Given the description of an element on the screen output the (x, y) to click on. 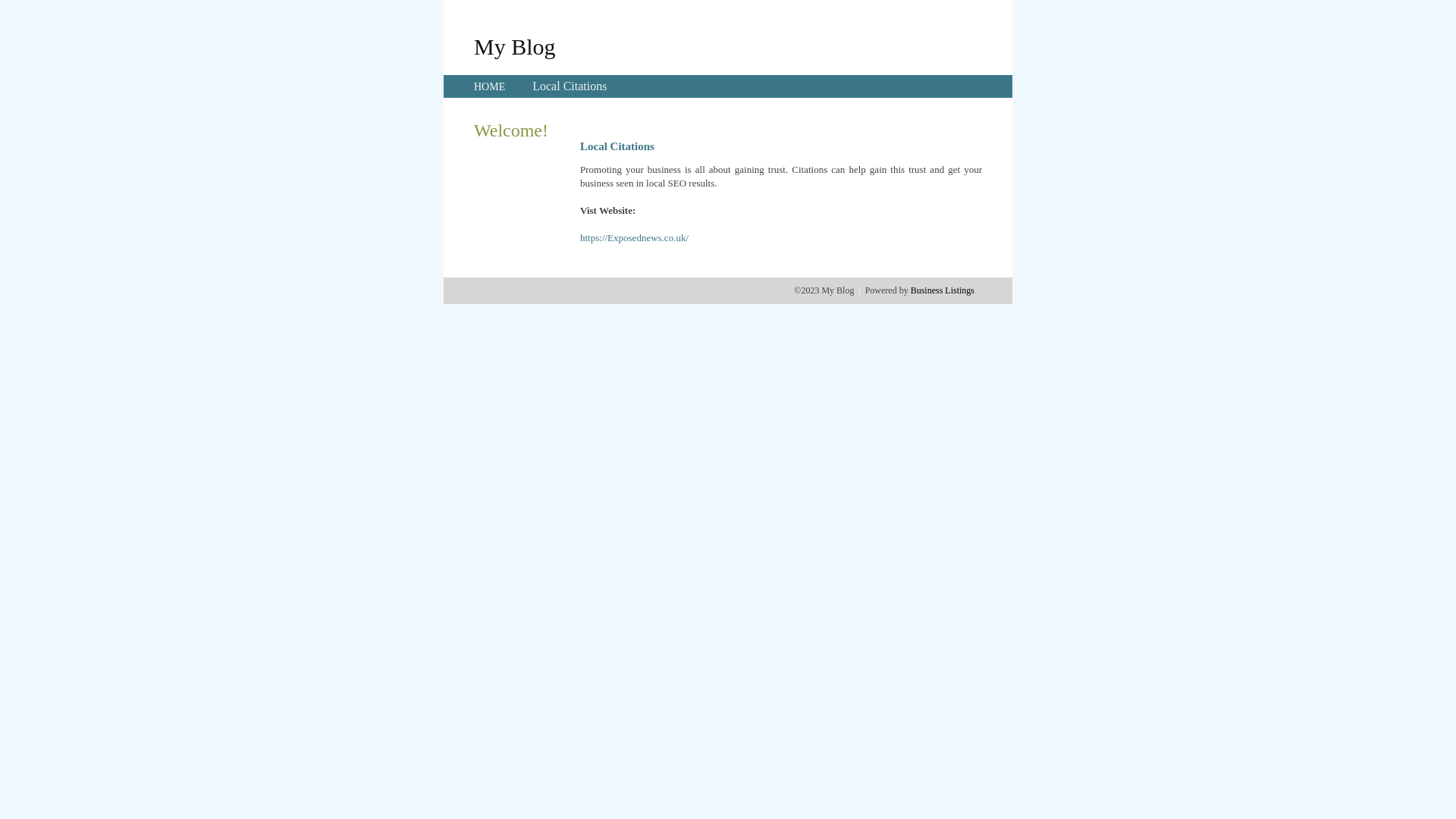
HOME Element type: text (489, 86)
My Blog Element type: text (514, 46)
Business Listings Element type: text (942, 290)
Local Citations Element type: text (569, 85)
https://Exposednews.co.uk/ Element type: text (634, 237)
